Given the description of an element on the screen output the (x, y) to click on. 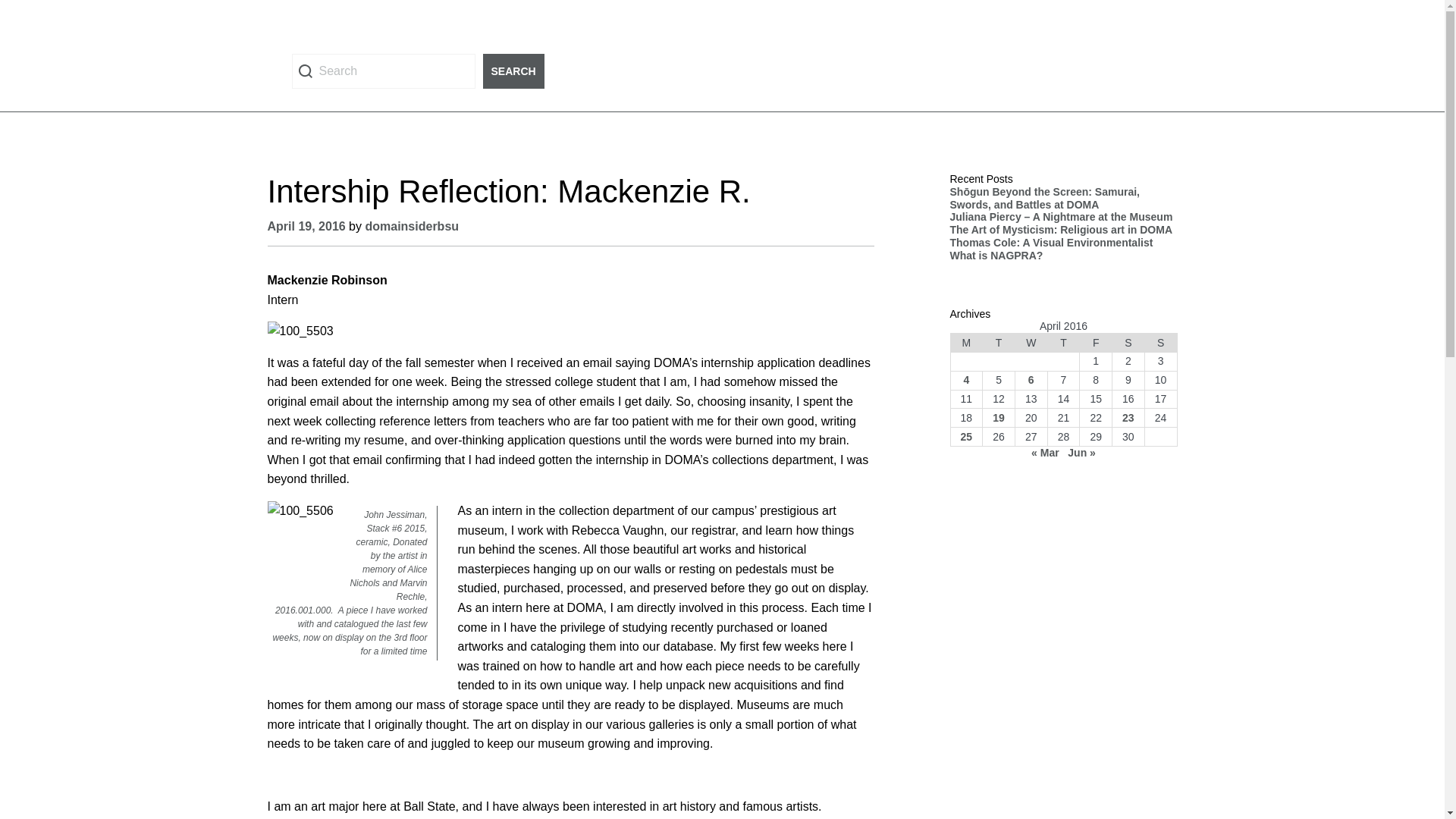
Sunday (1160, 342)
Wednesday (1030, 342)
Search (512, 71)
Monday (966, 342)
April 19, 2016 (305, 226)
Friday (1096, 342)
The Art of Mysticism: Religious art in DOMA  (1061, 229)
What is NAGPRA? (995, 255)
25 (966, 436)
Search (382, 71)
domainsiderbsu (411, 226)
Thursday (1063, 342)
Posts by domainsiderbsu (411, 226)
23 (1128, 417)
19 (998, 417)
